Given the description of an element on the screen output the (x, y) to click on. 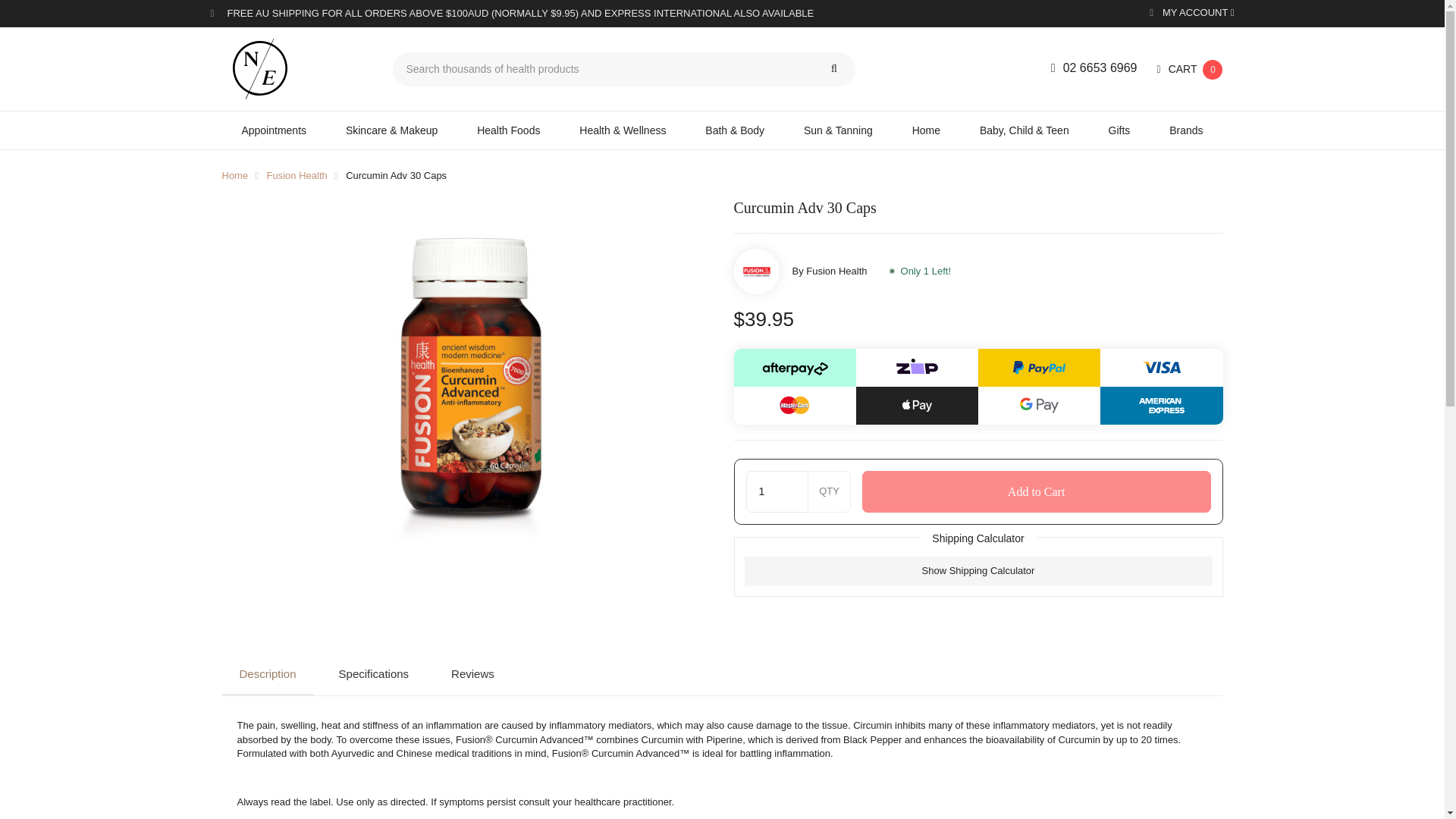
My Account (1191, 13)
Search (833, 69)
1 (777, 491)
Appointments (273, 130)
02 6653 6969 (1094, 68)
Nourished Earth (295, 68)
CART0 (1190, 69)
View Your Cart (1190, 69)
MY ACCOUNT (1191, 13)
Call Us 02 6653 6969 (1094, 68)
